Given the description of an element on the screen output the (x, y) to click on. 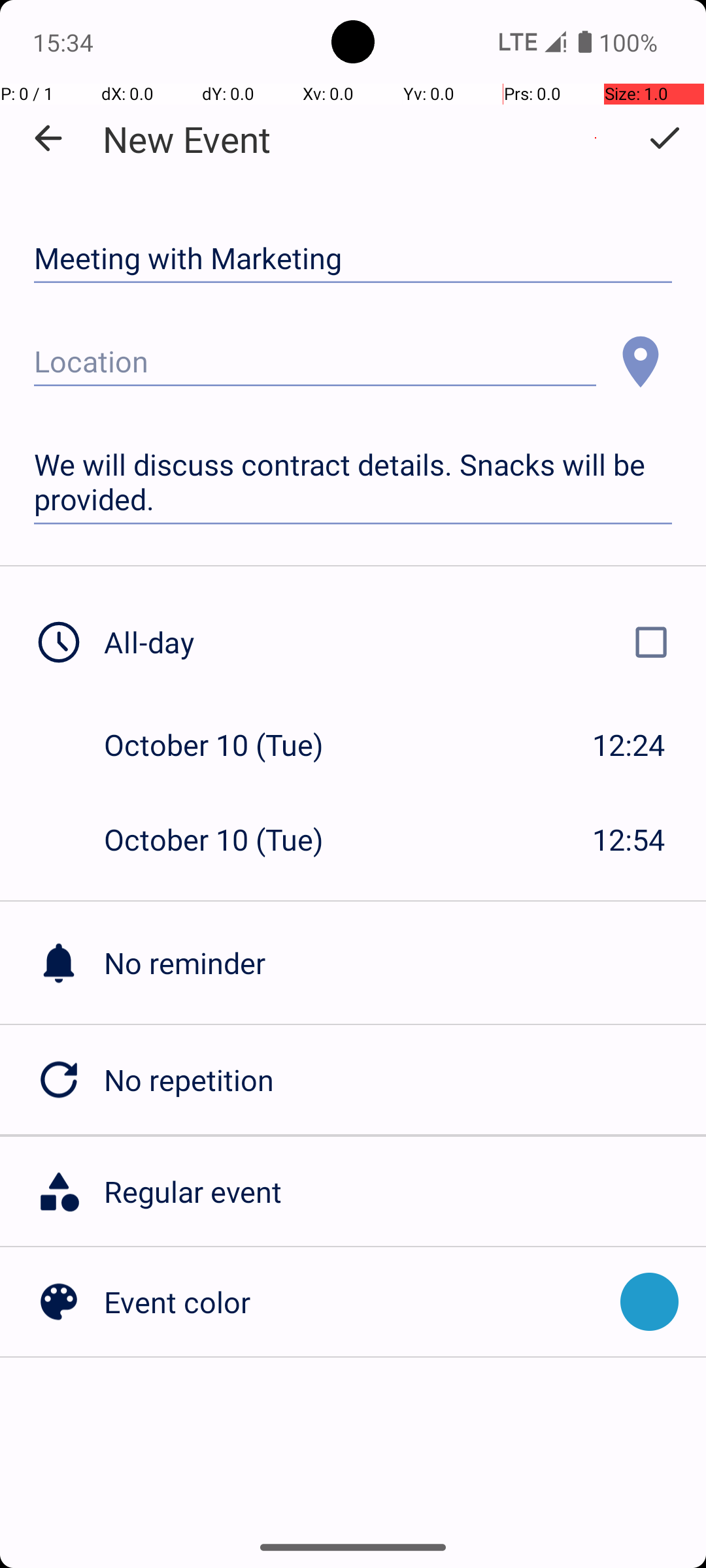
We will discuss contract details. Snacks will be provided. Element type: android.widget.EditText (352, 482)
October 10 (Tue) Element type: android.widget.TextView (227, 744)
12:24 Element type: android.widget.TextView (628, 744)
12:54 Element type: android.widget.TextView (628, 838)
